Given the description of an element on the screen output the (x, y) to click on. 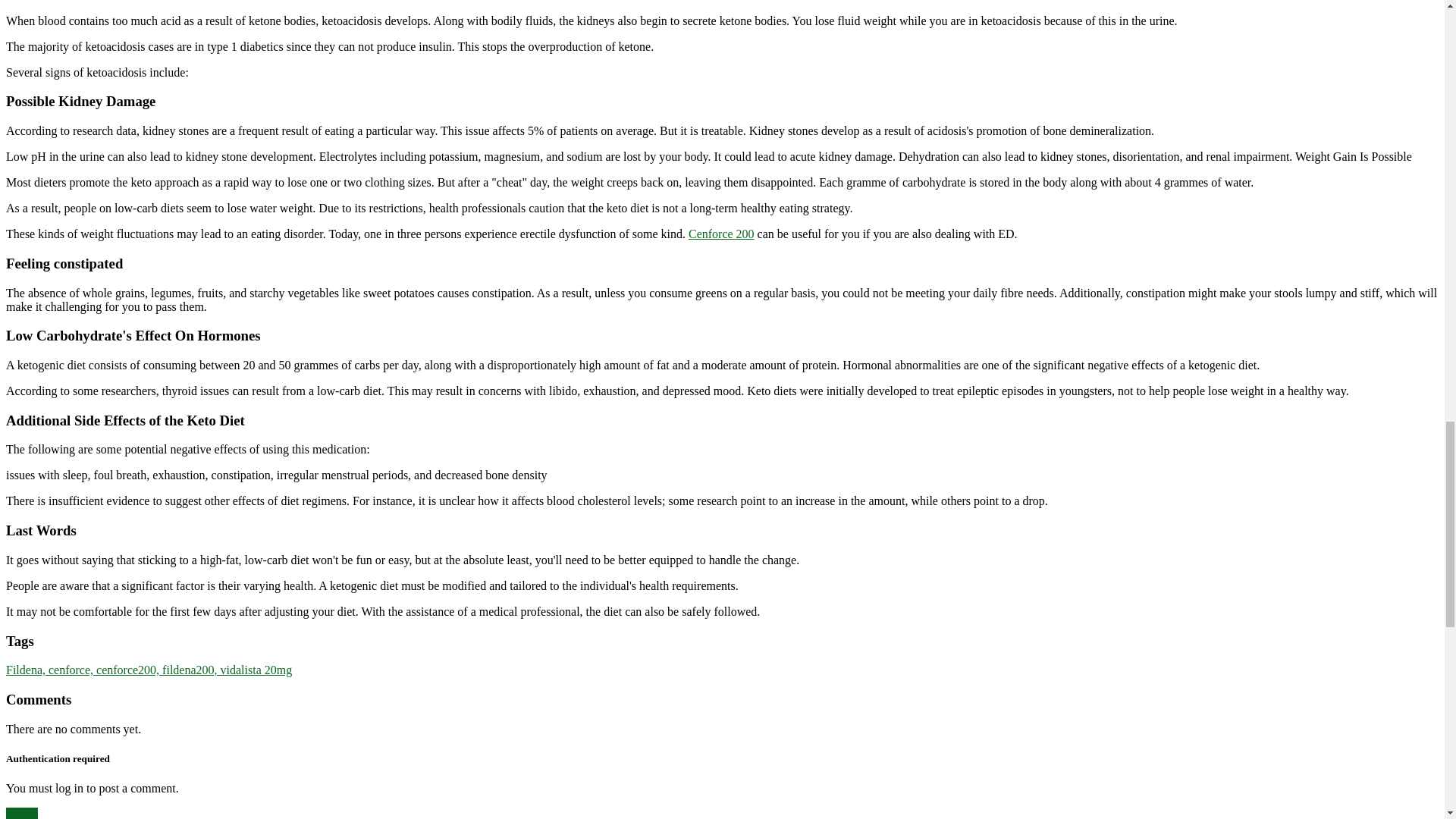
Log in (21, 813)
Fildena, cenforce, cenforce200, fildena200, vidalista 20mg (148, 669)
Cenforce 200 (721, 233)
